Given the description of an element on the screen output the (x, y) to click on. 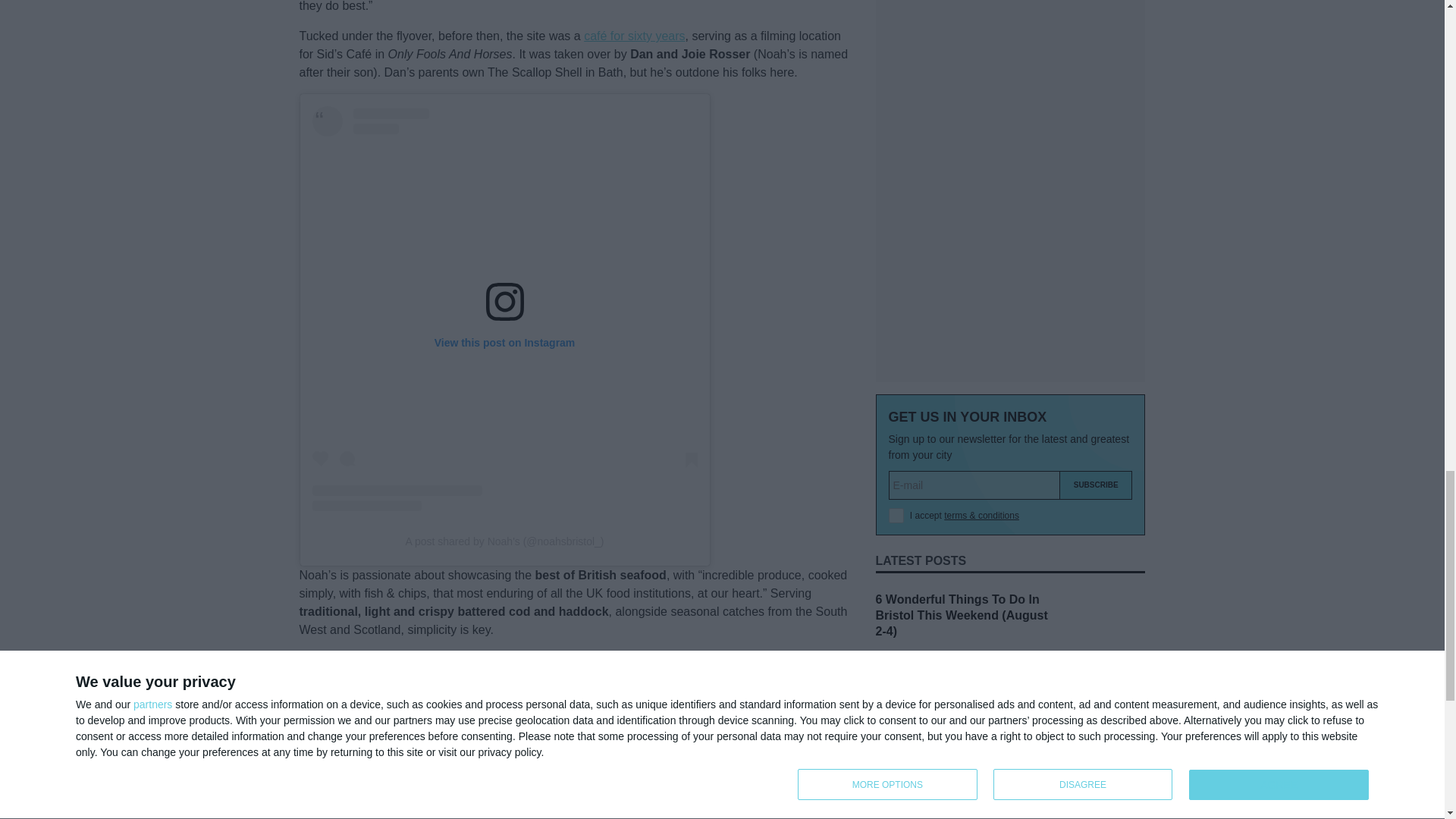
here (511, 799)
